Given the description of an element on the screen output the (x, y) to click on. 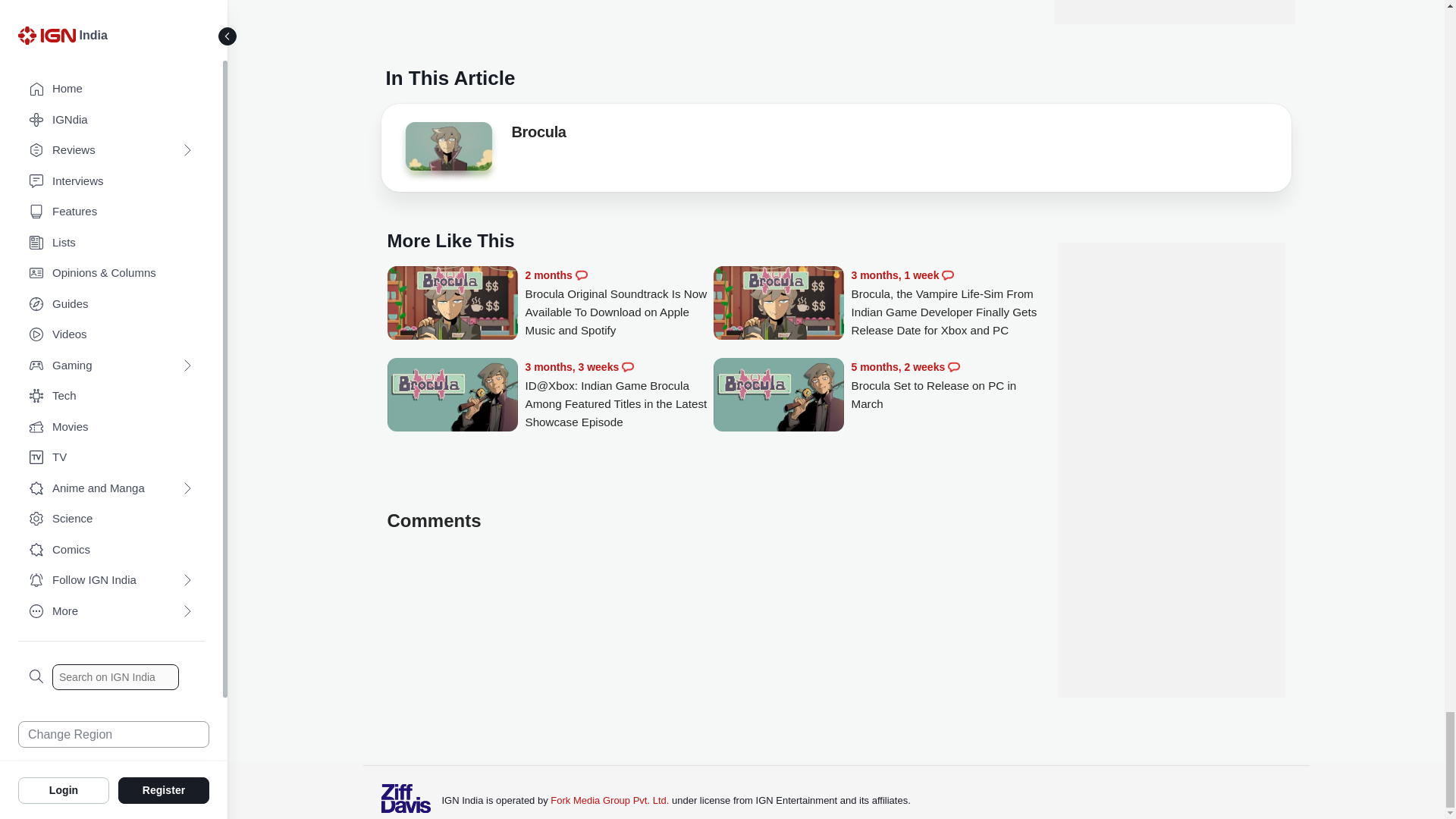
Brocula (448, 146)
Brocula Set to Release on PC in March (778, 395)
Brocula (538, 134)
Brocula Set to Release on PC in March (944, 385)
Brocula (448, 150)
